Given the description of an element on the screen output the (x, y) to click on. 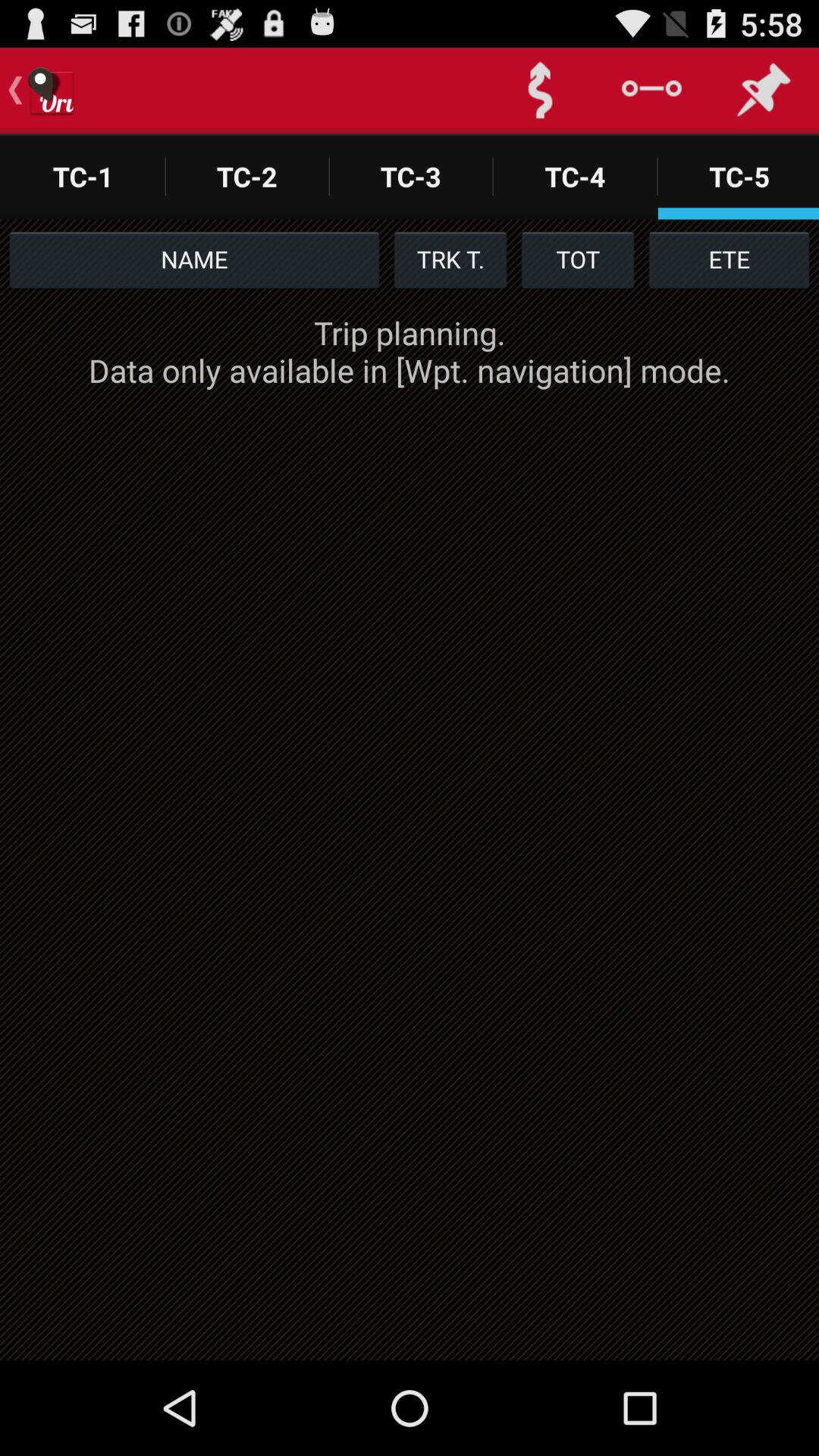
click the app above trip planning data app (194, 259)
